Given the description of an element on the screen output the (x, y) to click on. 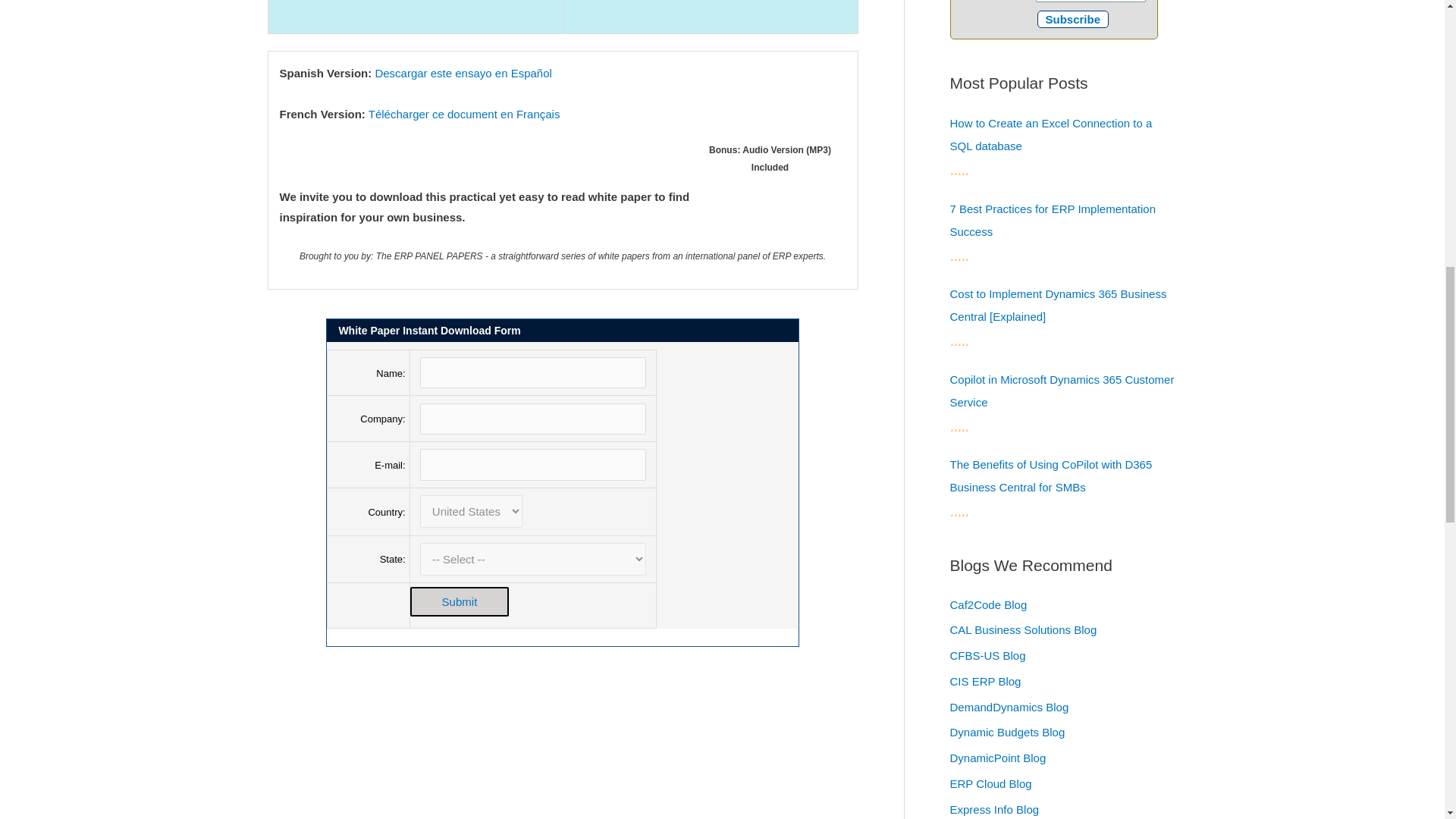
Cloud ERP VARs and Vendors Discuss Products and Solutions (989, 783)
CIS ERP Blog (984, 680)
Caf2Code Blog (987, 604)
Dynamic Budgets Blog (1006, 731)
Submit (459, 601)
Subscribe (1072, 18)
CFBS-US Blog  (987, 655)
